Given the description of an element on the screen output the (x, y) to click on. 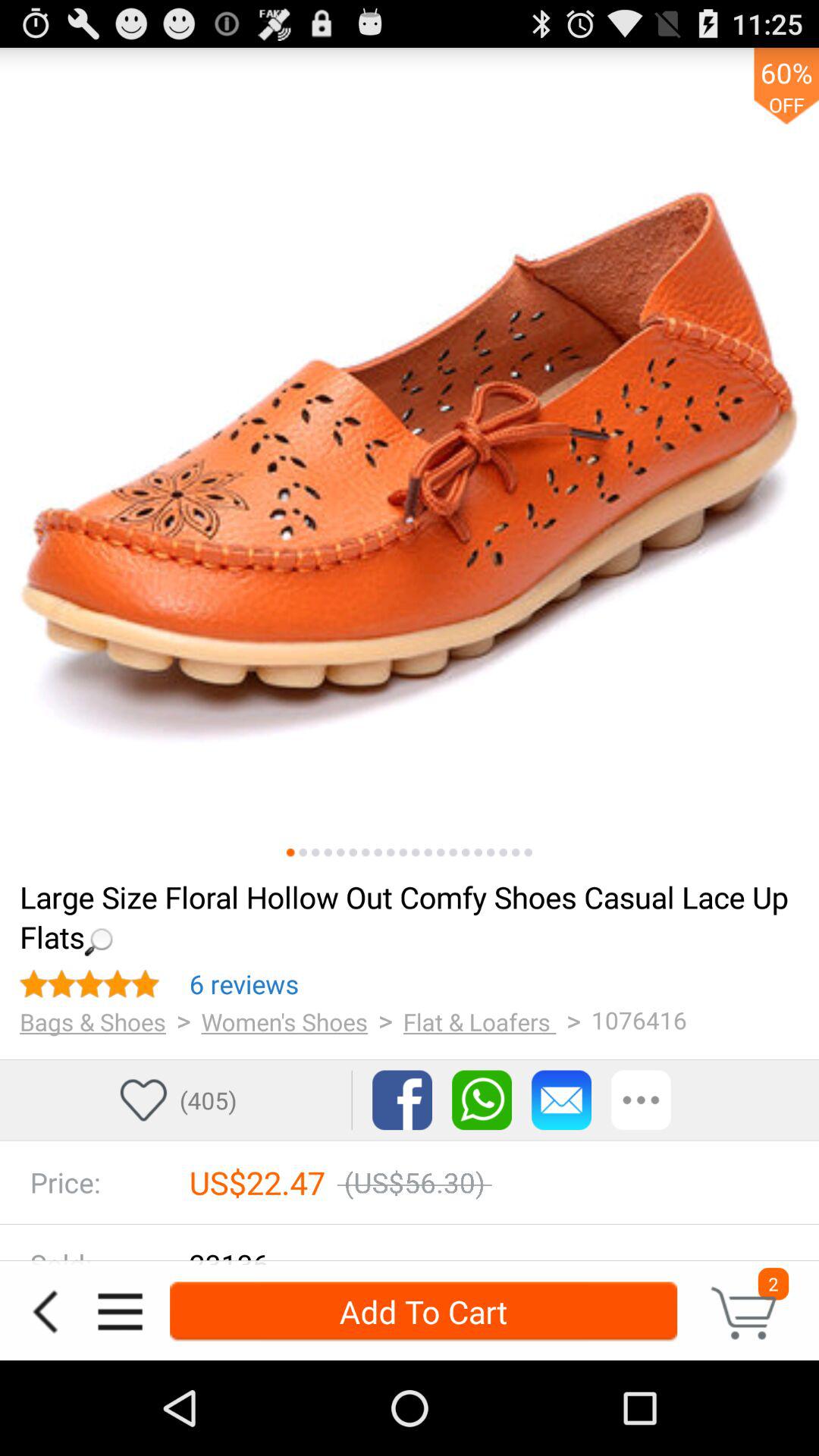
choose the app next to > item (284, 1021)
